Given the description of an element on the screen output the (x, y) to click on. 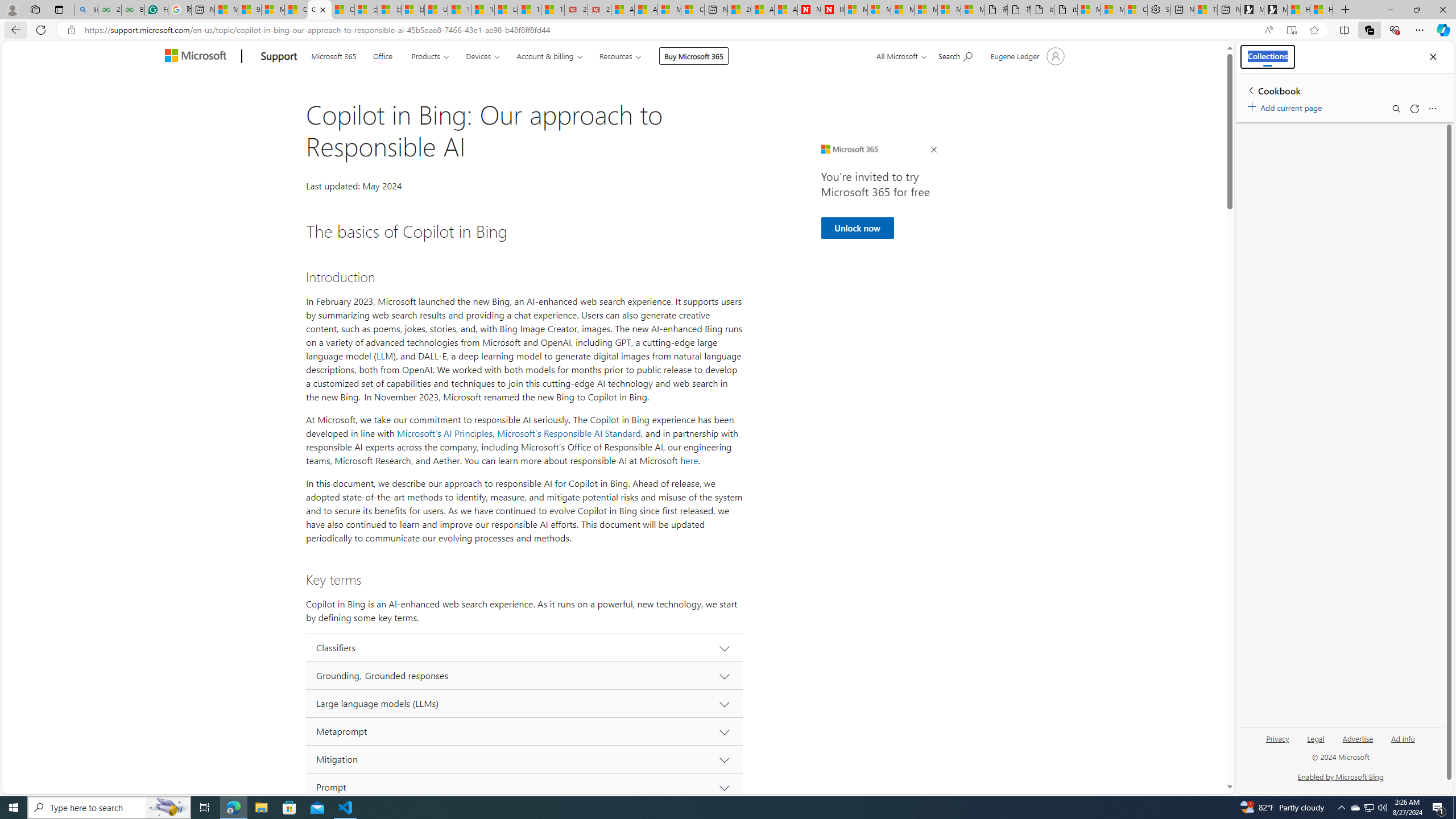
Back to list of collections (1250, 90)
Best SSL Certificates Provider in India - GeeksforGeeks (132, 9)
Illness news & latest pictures from Newsweek.com (832, 9)
How to Use a TV as a Computer Monitor (1321, 9)
